Given the description of an element on the screen output the (x, y) to click on. 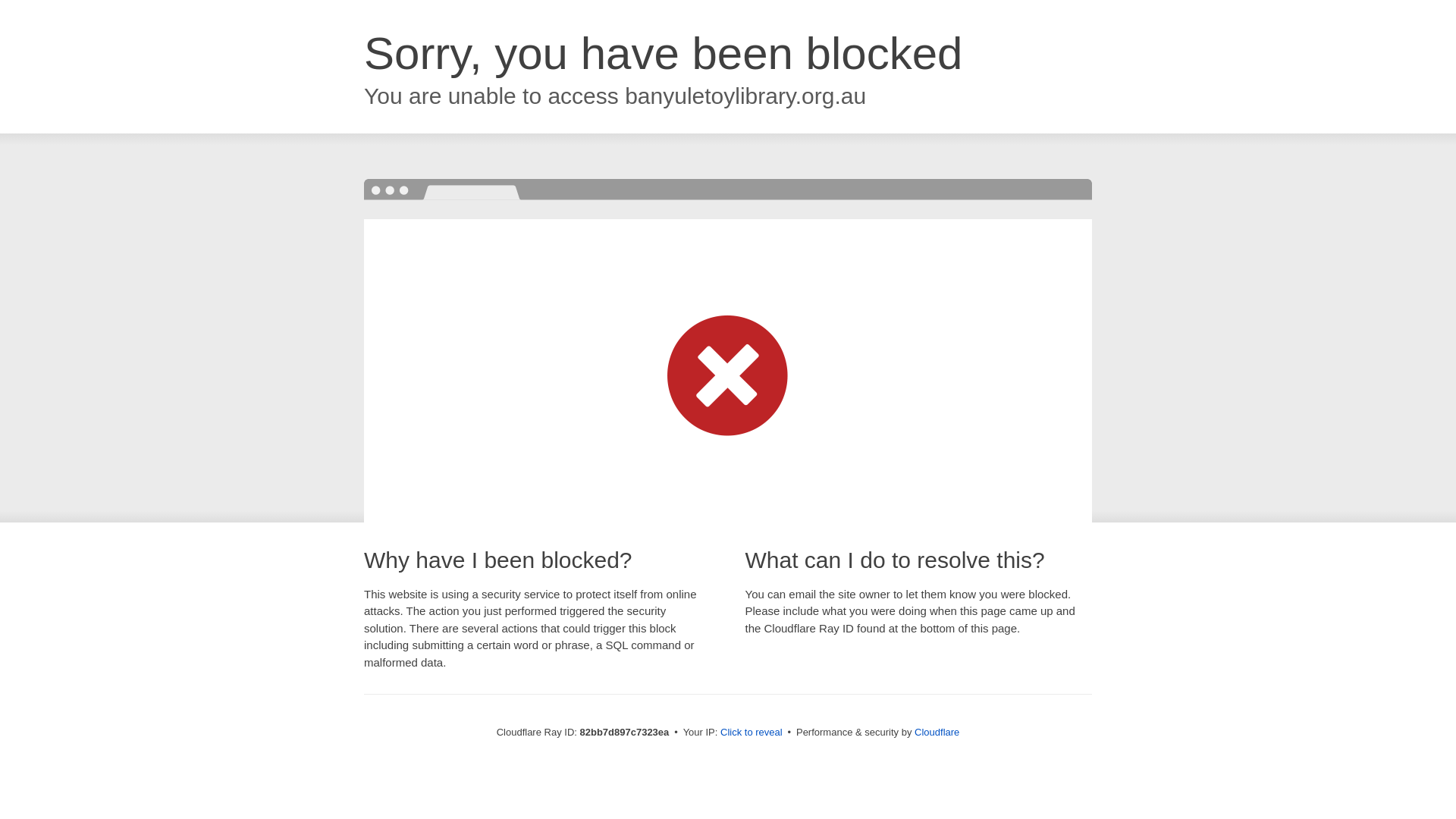
Click to reveal Element type: text (751, 732)
Cloudflare Element type: text (936, 731)
